Given the description of an element on the screen output the (x, y) to click on. 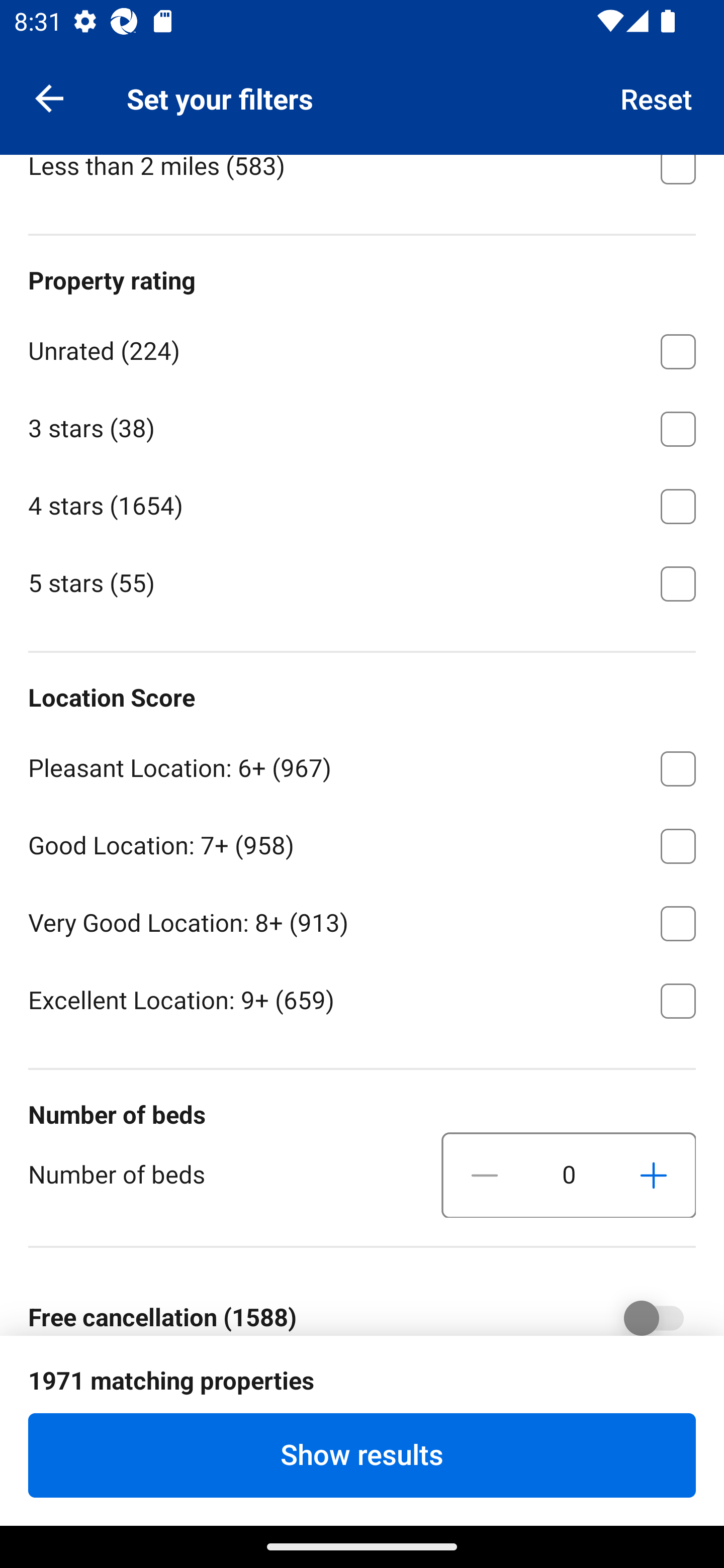
Less than 1 mile ⁦(399) (361, 85)
Navigate up (49, 97)
Reset (656, 97)
Less than 2 miles ⁦(583) (361, 180)
Unrated ⁦(224) (361, 347)
3 stars ⁦(38) (361, 425)
4 stars ⁦(1654) (361, 503)
5 stars ⁦(55) (361, 582)
Pleasant Location: 6+ ⁦(967) (361, 764)
Good Location: 7+ ⁦(958) (361, 842)
Very Good Location: 8+ ⁦(913) (361, 920)
Excellent Location: 9+ ⁦(659) (361, 999)
Decrease (484, 1175)
Increase (653, 1175)
Free cancellation ⁦(1588) (639, 1305)
Show results (361, 1454)
